Given the description of an element on the screen output the (x, y) to click on. 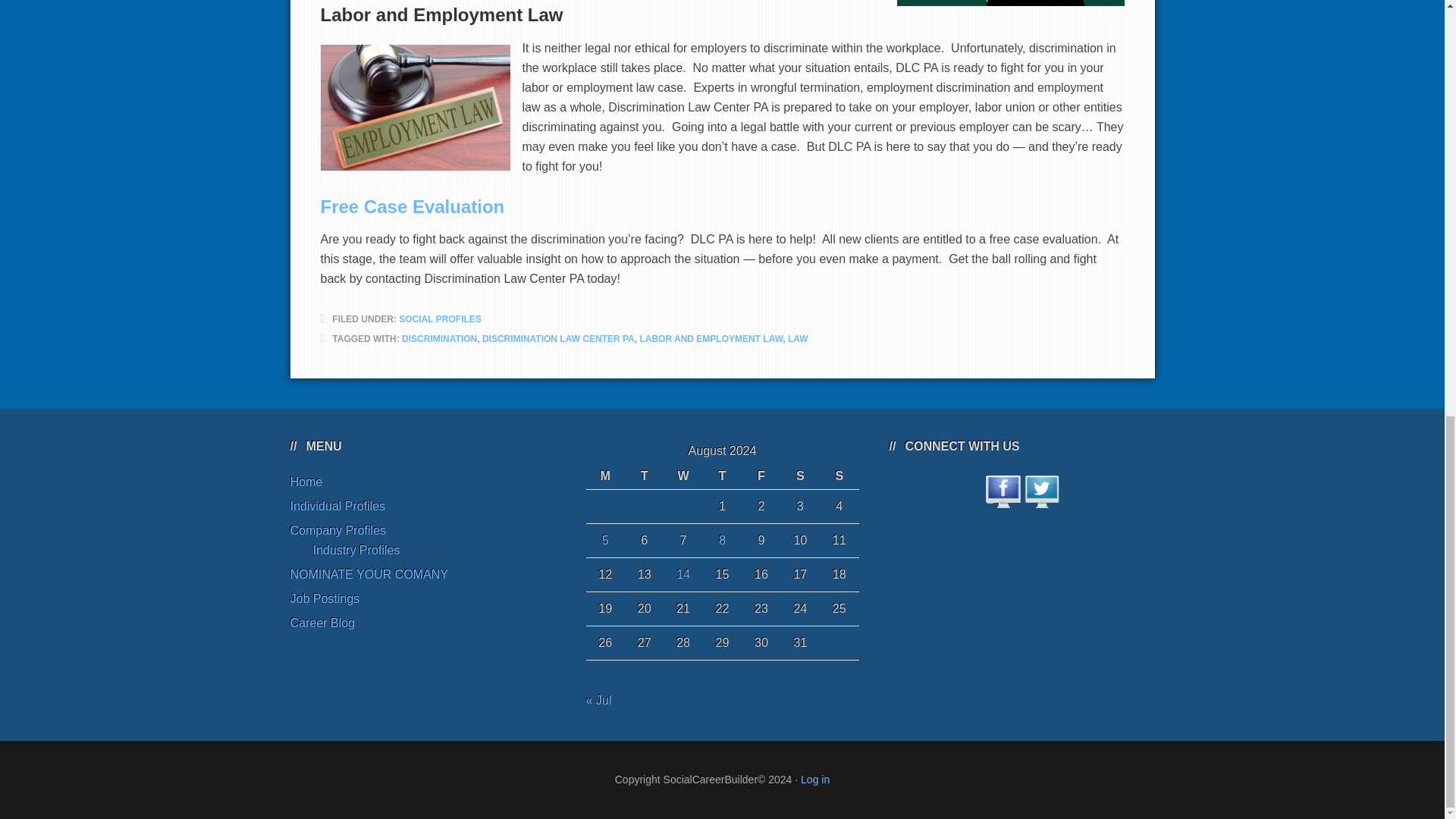
DISCRIMINATION LAW CENTER PA (557, 338)
Job Postings (324, 598)
NOMINATE YOUR COMANY (367, 574)
Saturday (799, 476)
Monday (604, 476)
14 (683, 574)
Log in (814, 779)
Industry Profiles (355, 549)
Wednesday (682, 476)
Free Case Evaluation (411, 206)
